Given the description of an element on the screen output the (x, y) to click on. 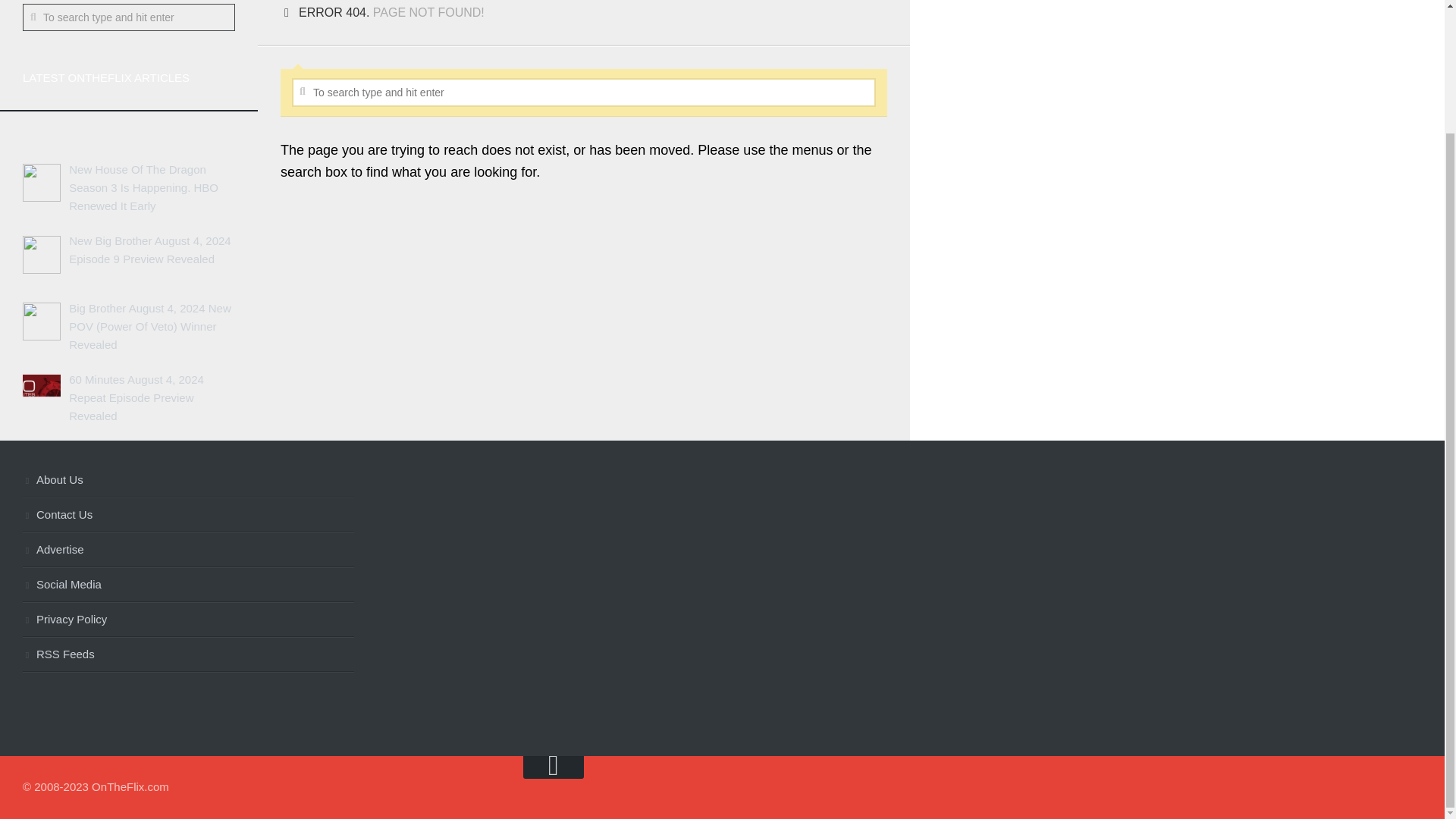
To search type and hit enter (584, 92)
To search type and hit enter (128, 17)
RSS Feeds (188, 655)
New Big Brother August 4, 2024 Episode 9 Preview Revealed (149, 249)
To search type and hit enter (128, 17)
Privacy Policy (188, 620)
Contact Us (188, 515)
Social Media (188, 585)
To search type and hit enter (584, 92)
60 Minutes August 4, 2024 Repeat Episode Preview Revealed (135, 397)
About Us (188, 480)
Advertise (188, 550)
